Given the description of an element on the screen output the (x, y) to click on. 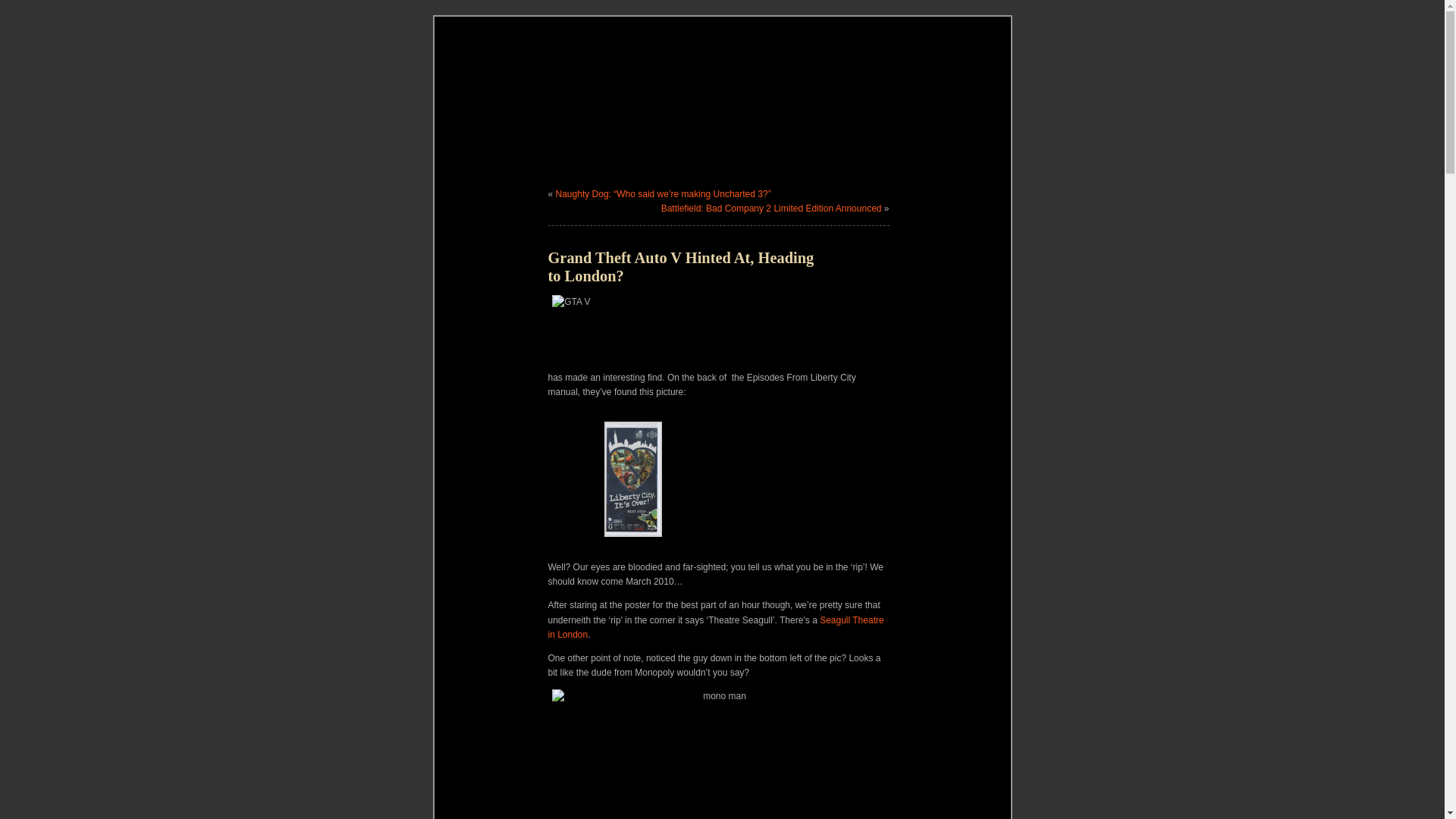
Grand Theft Auto V Hinted At, Heading to London? (680, 266)
Seagull Theatre in London. (715, 627)
Seagull Theatre in London (715, 627)
GTA V (718, 327)
mono man (718, 754)
Battlefield: Bad Company 2 Limited Edition Announced (771, 208)
11ttuef (632, 538)
